Given the description of an element on the screen output the (x, y) to click on. 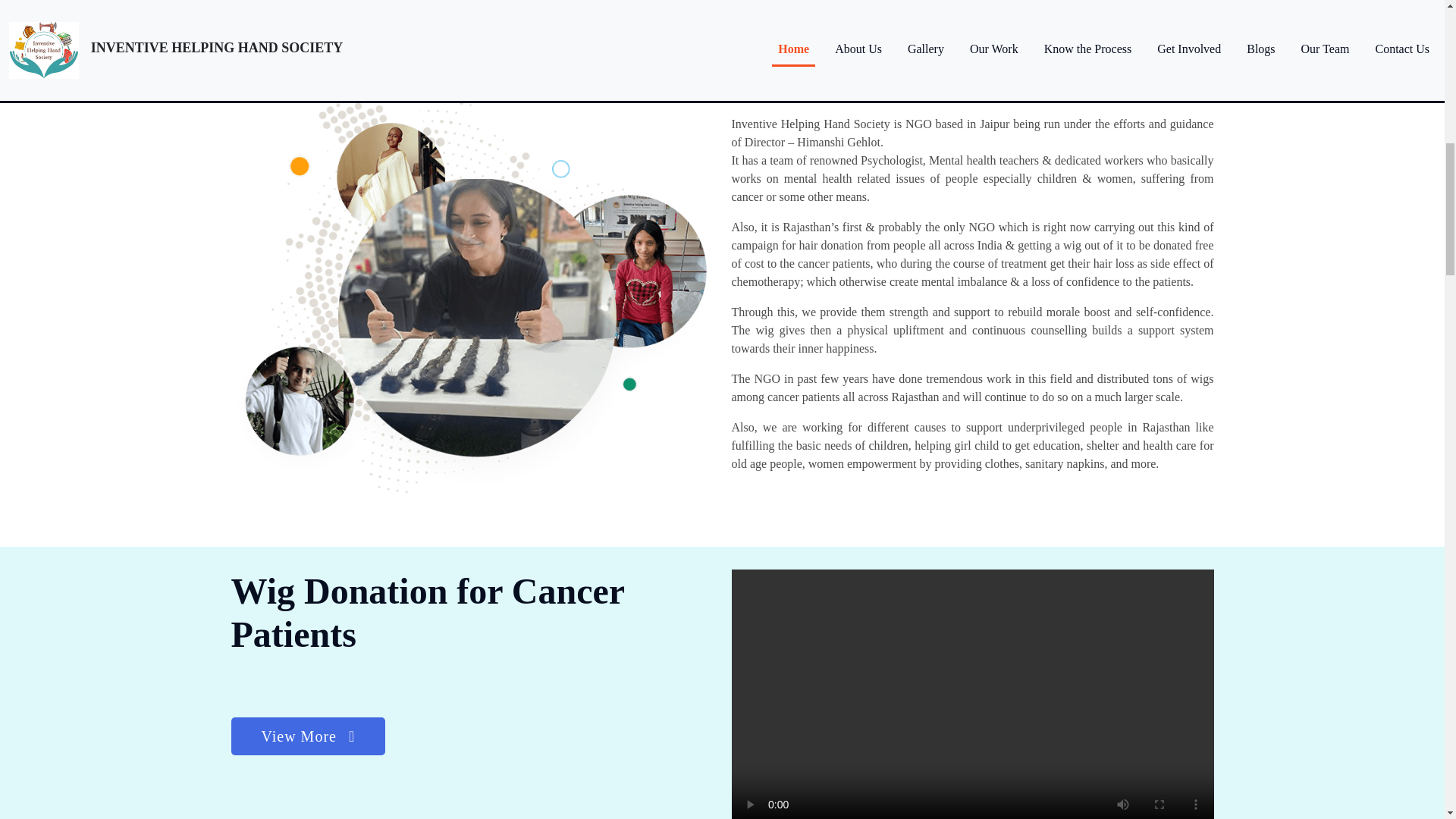
View More (307, 737)
View More (307, 736)
